Given the description of an element on the screen output the (x, y) to click on. 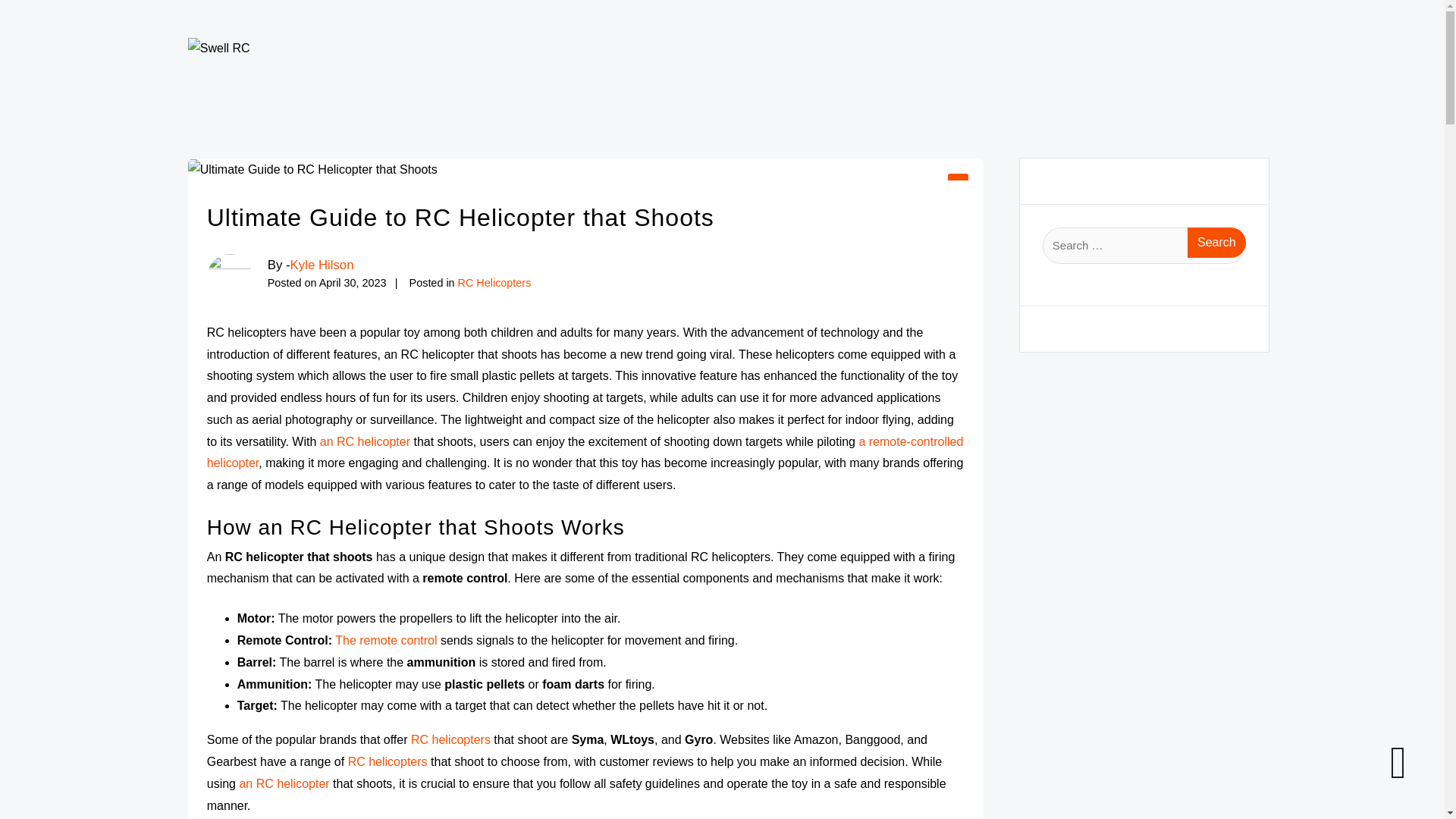
The remote control (385, 640)
RC helicopters (387, 761)
Kyle Hilson (321, 264)
an RC helicopter (365, 440)
RC Helicopters (494, 282)
a remote-controlled helicopter (584, 452)
Search (1217, 242)
an RC helicopter (283, 783)
Search (1217, 242)
Search (1217, 242)
RC helicopters (450, 739)
